Given the description of an element on the screen output the (x, y) to click on. 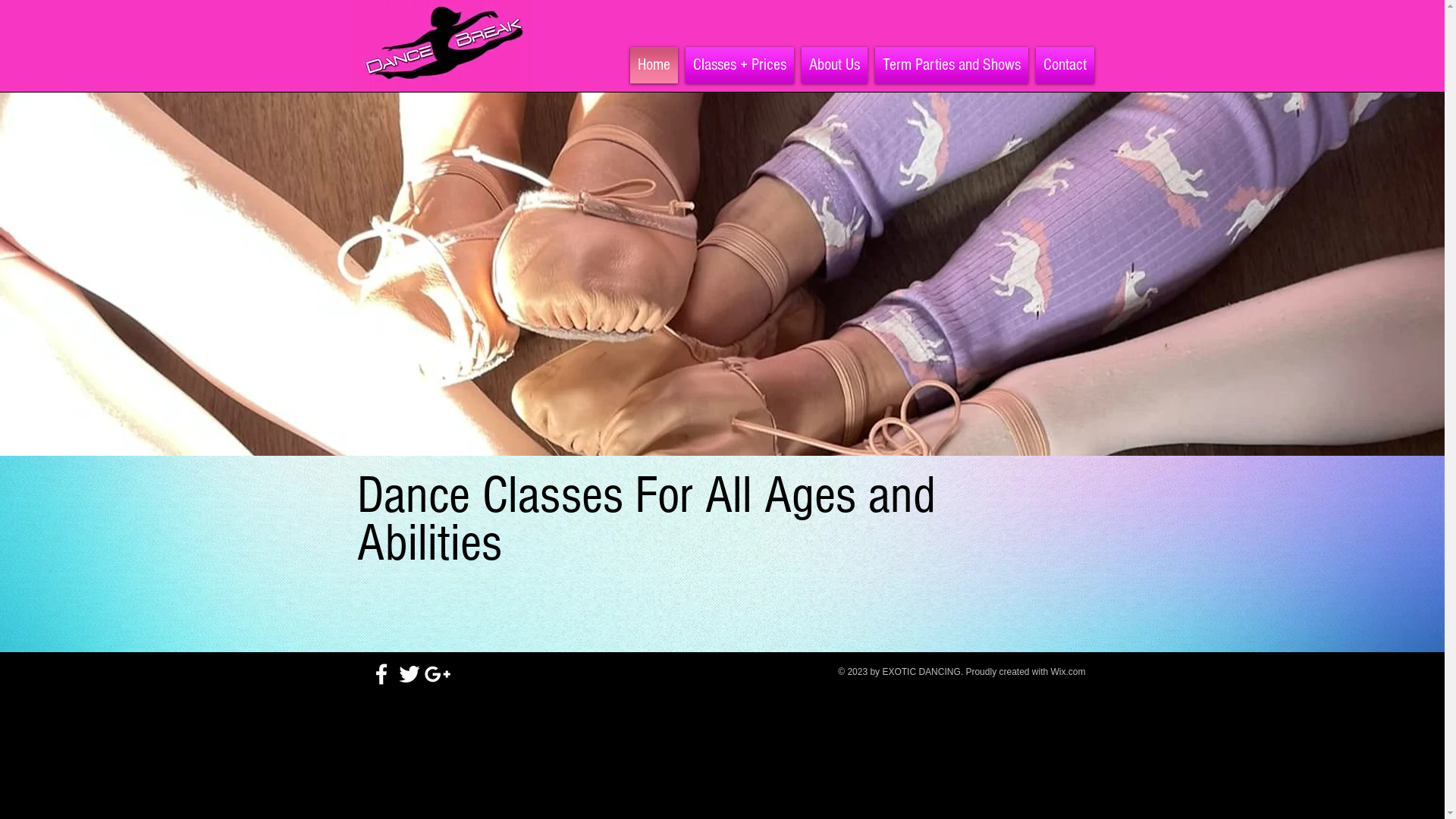
About Us Element type: text (834, 65)
Wix.com Element type: text (1068, 671)
logo.jpg Element type: hover (440, 45)
Classes + Prices Element type: text (738, 65)
Contact Element type: text (1062, 65)
Home Element type: text (653, 65)
WEB-STAT Element type: hover (1198, 580)
Term Parties and Shows Element type: text (950, 65)
